Given the description of an element on the screen output the (x, y) to click on. 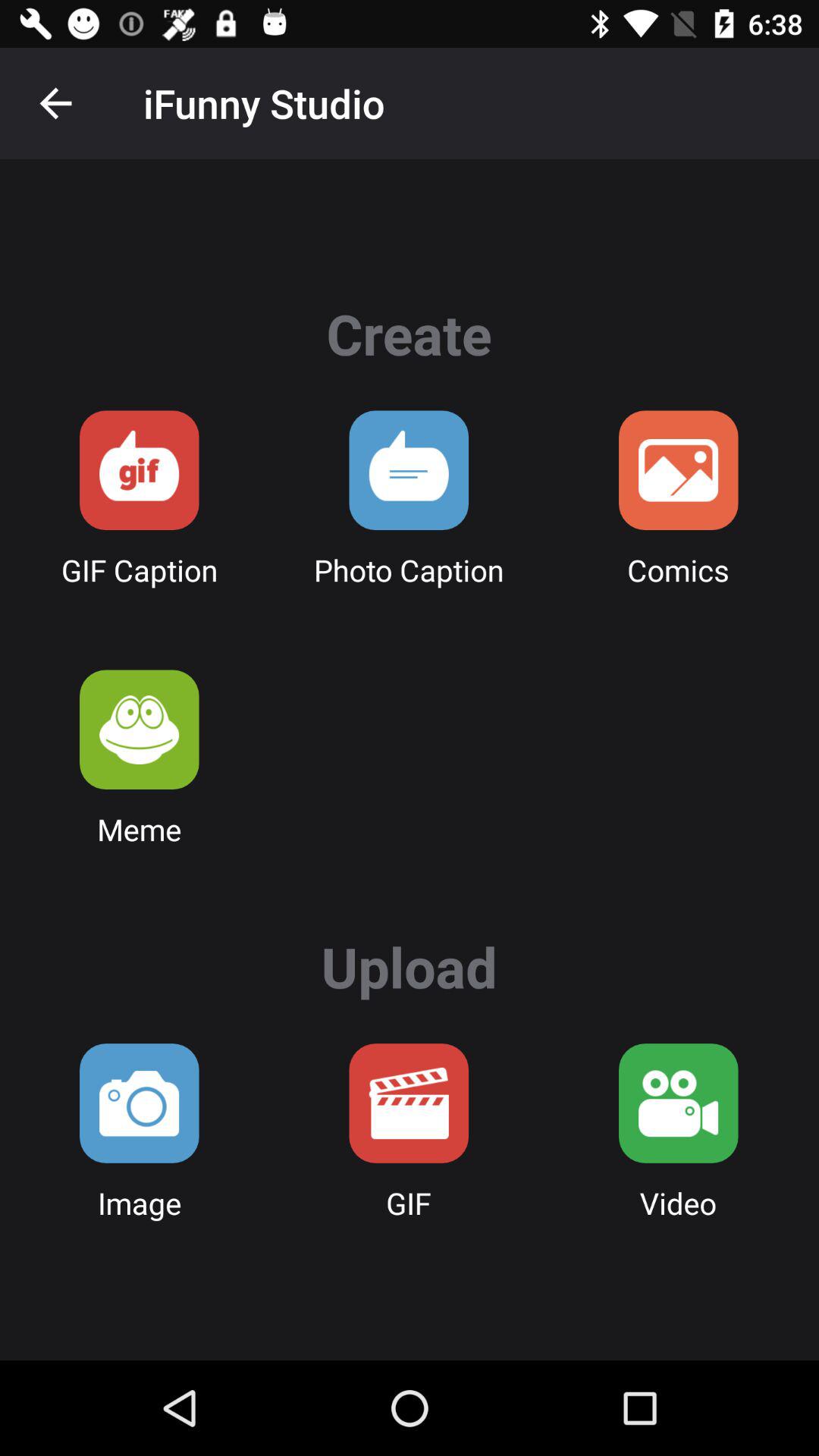
comic option (678, 470)
